Given the description of an element on the screen output the (x, y) to click on. 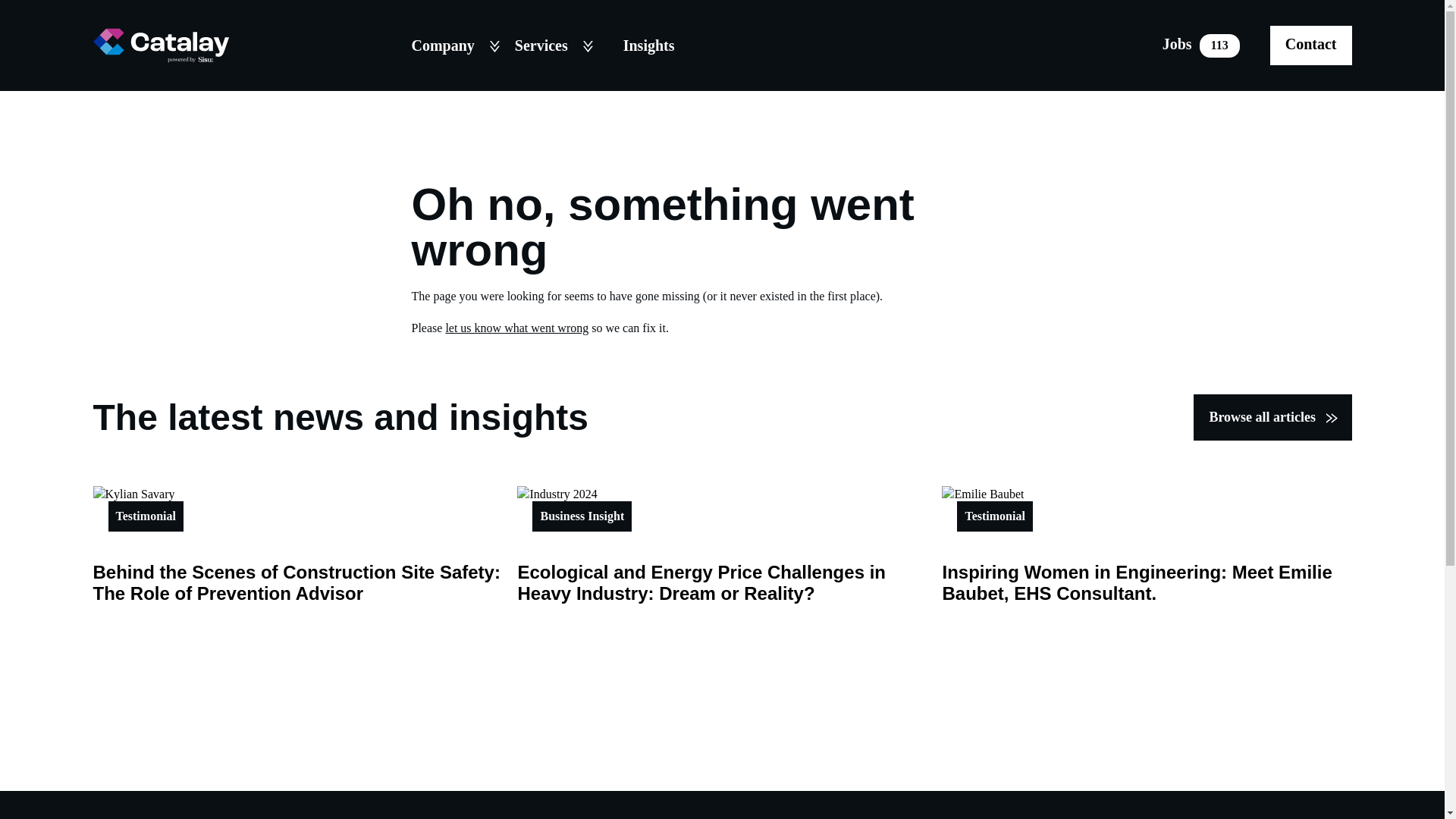
Services (545, 44)
Company (445, 44)
let us know what went wrong (516, 327)
Contact (1201, 44)
Browse all articles (1310, 44)
Let us know what went wrong please. (1272, 417)
Insights (516, 327)
